Given the description of an element on the screen output the (x, y) to click on. 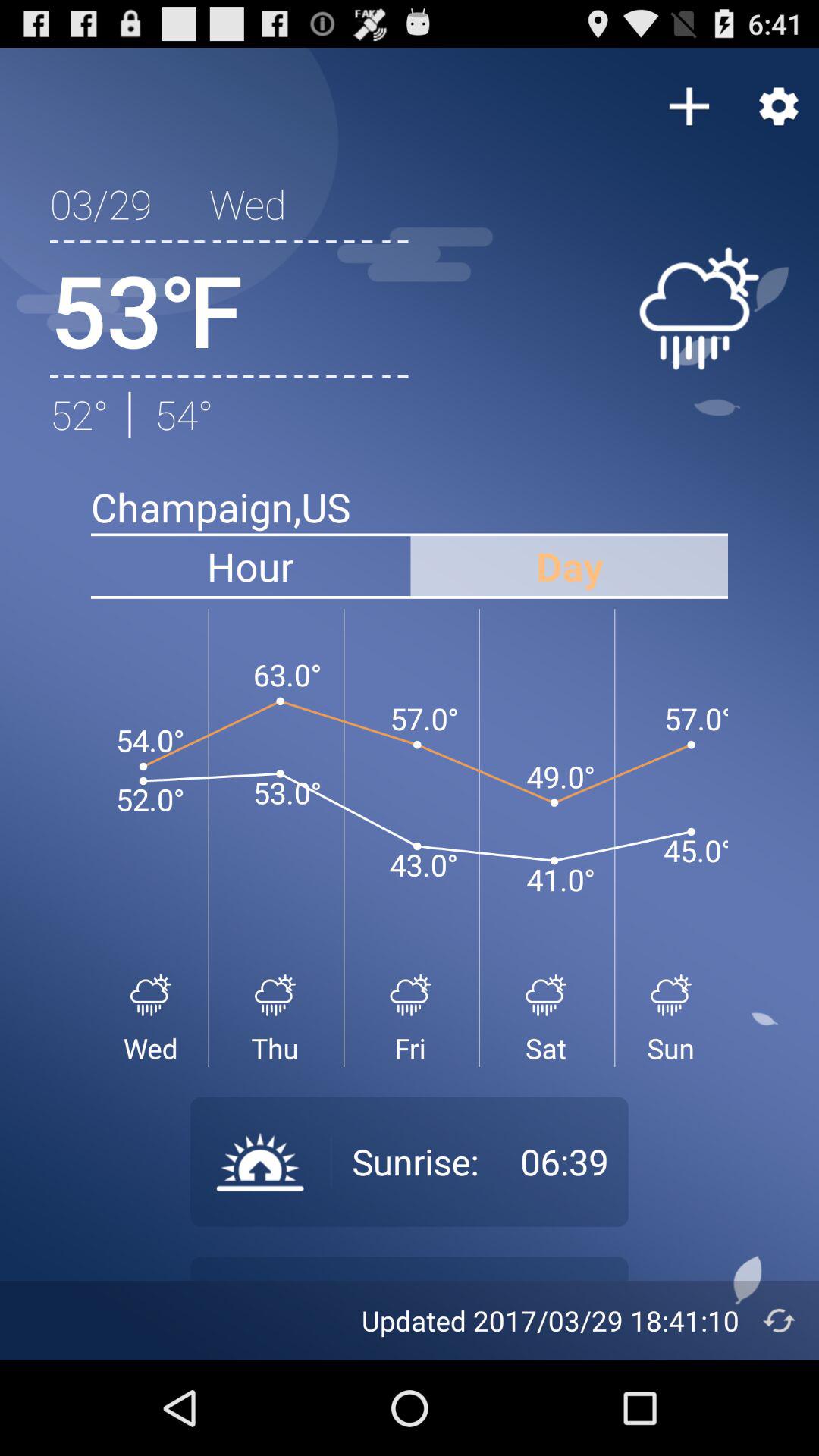
press icon to the left of day (250, 566)
